Given the description of an element on the screen output the (x, y) to click on. 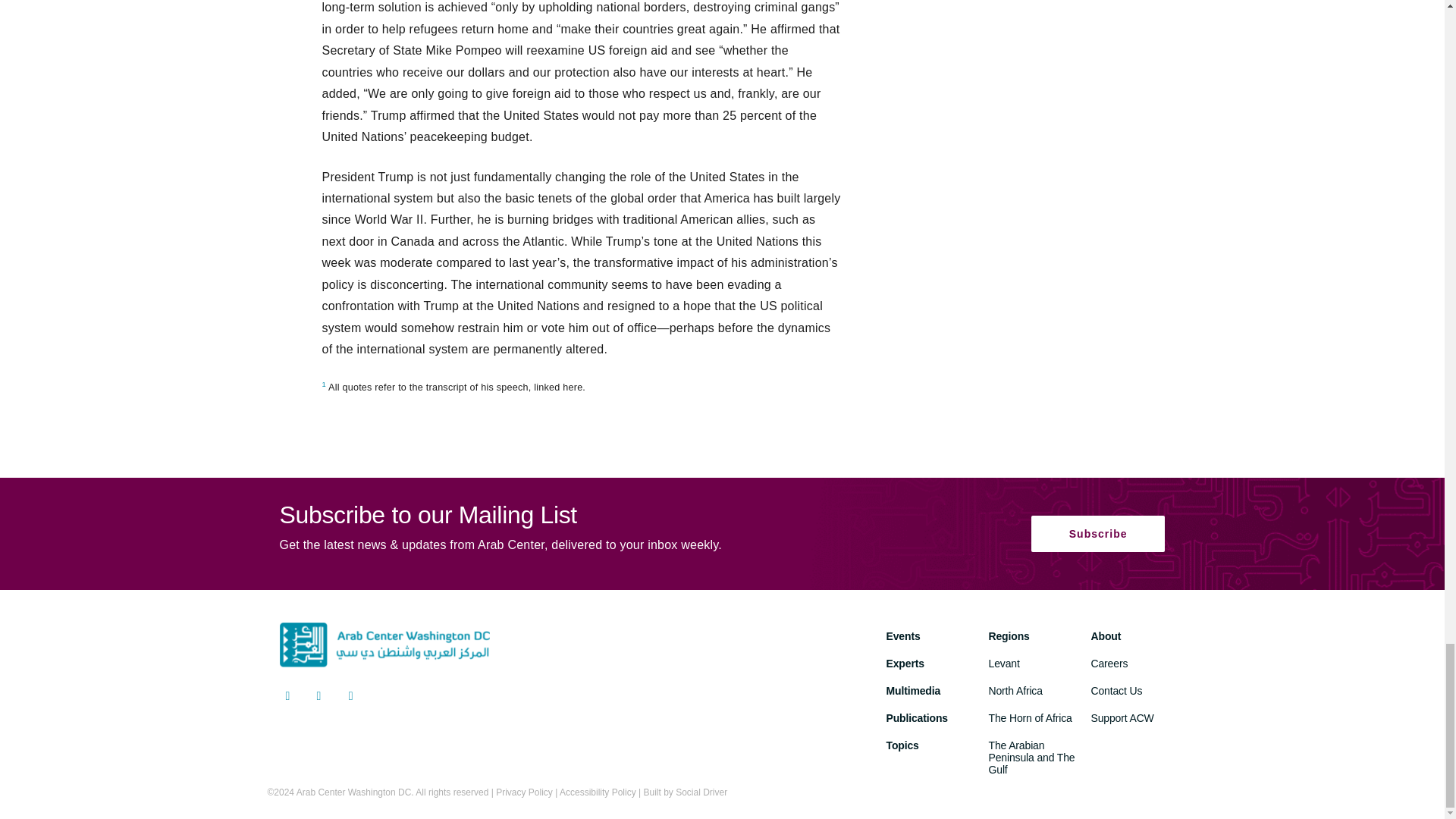
Social Driver Website (700, 792)
Go to Arab Center Washington DC Facebook Profile. (319, 698)
Go to Arab Center Washington DC YouTube Channel. (350, 698)
Go to Arab Center Washington DC Twitter Channel. (287, 698)
